Given the description of an element on the screen output the (x, y) to click on. 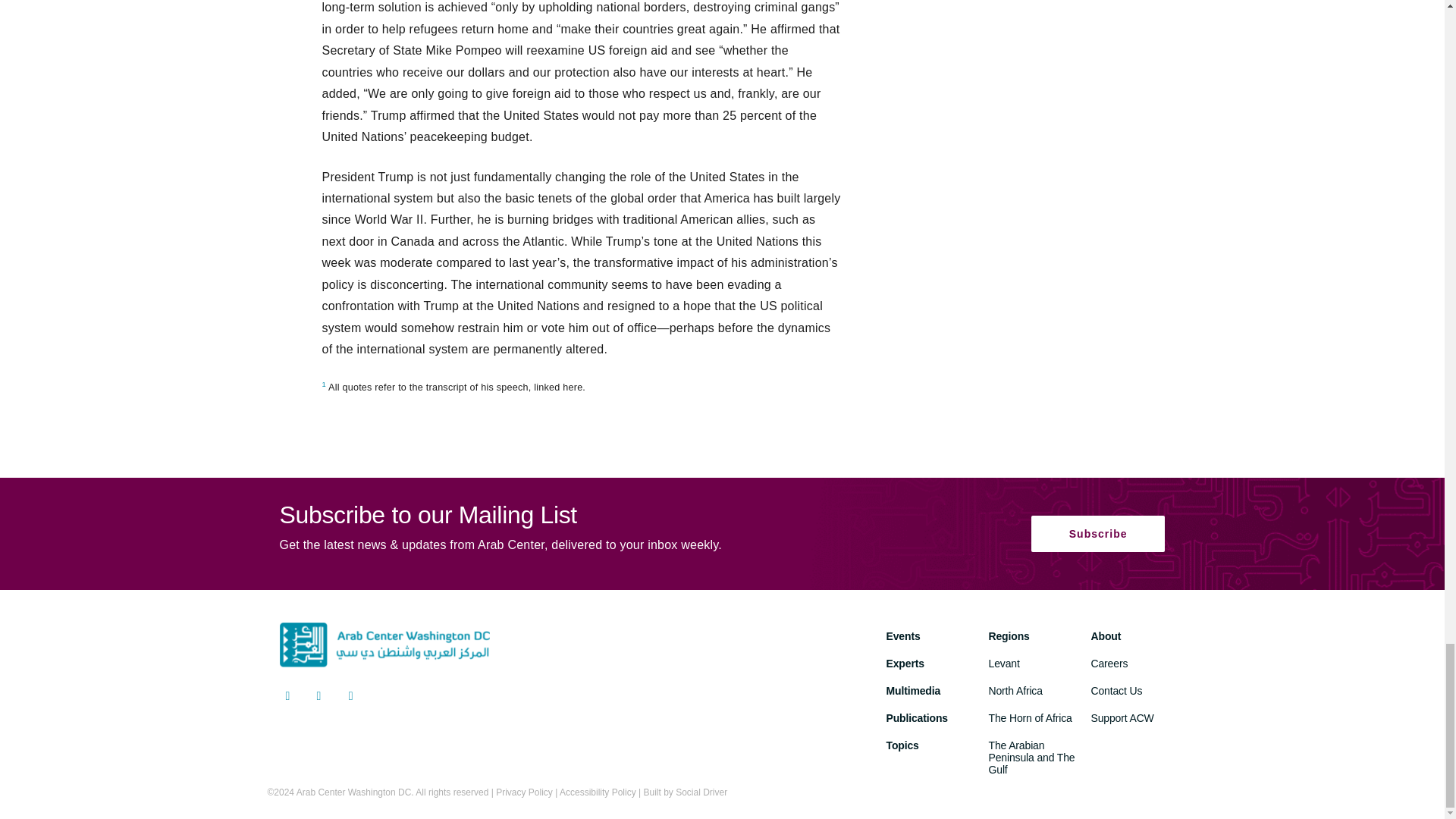
Social Driver Website (700, 792)
Go to Arab Center Washington DC Facebook Profile. (319, 698)
Go to Arab Center Washington DC YouTube Channel. (350, 698)
Go to Arab Center Washington DC Twitter Channel. (287, 698)
